Given the description of an element on the screen output the (x, y) to click on. 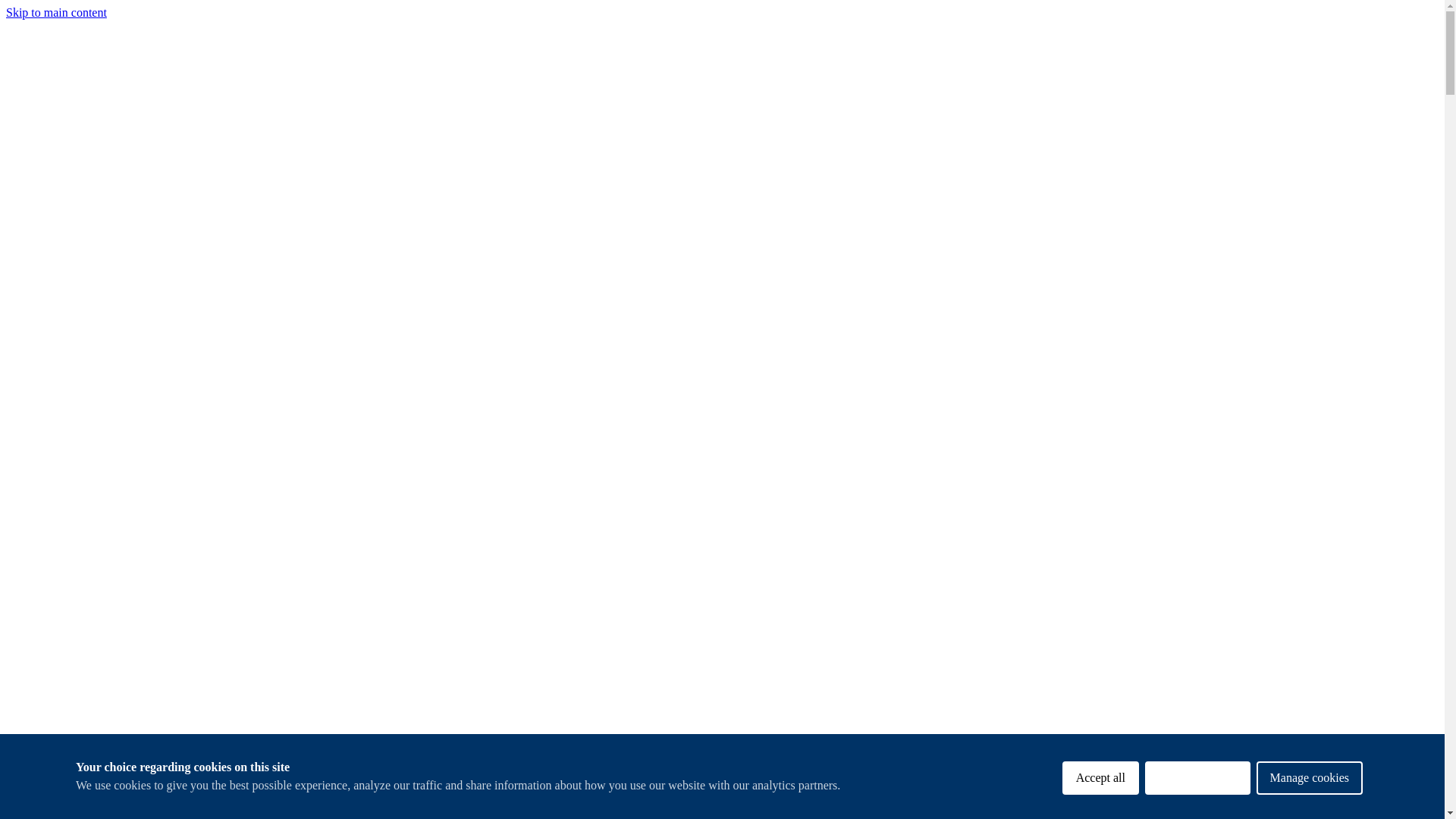
Manage cookies (1309, 786)
Skip to main content (55, 11)
Accept all (1100, 798)
Decline cookies (1197, 791)
